Given the description of an element on the screen output the (x, y) to click on. 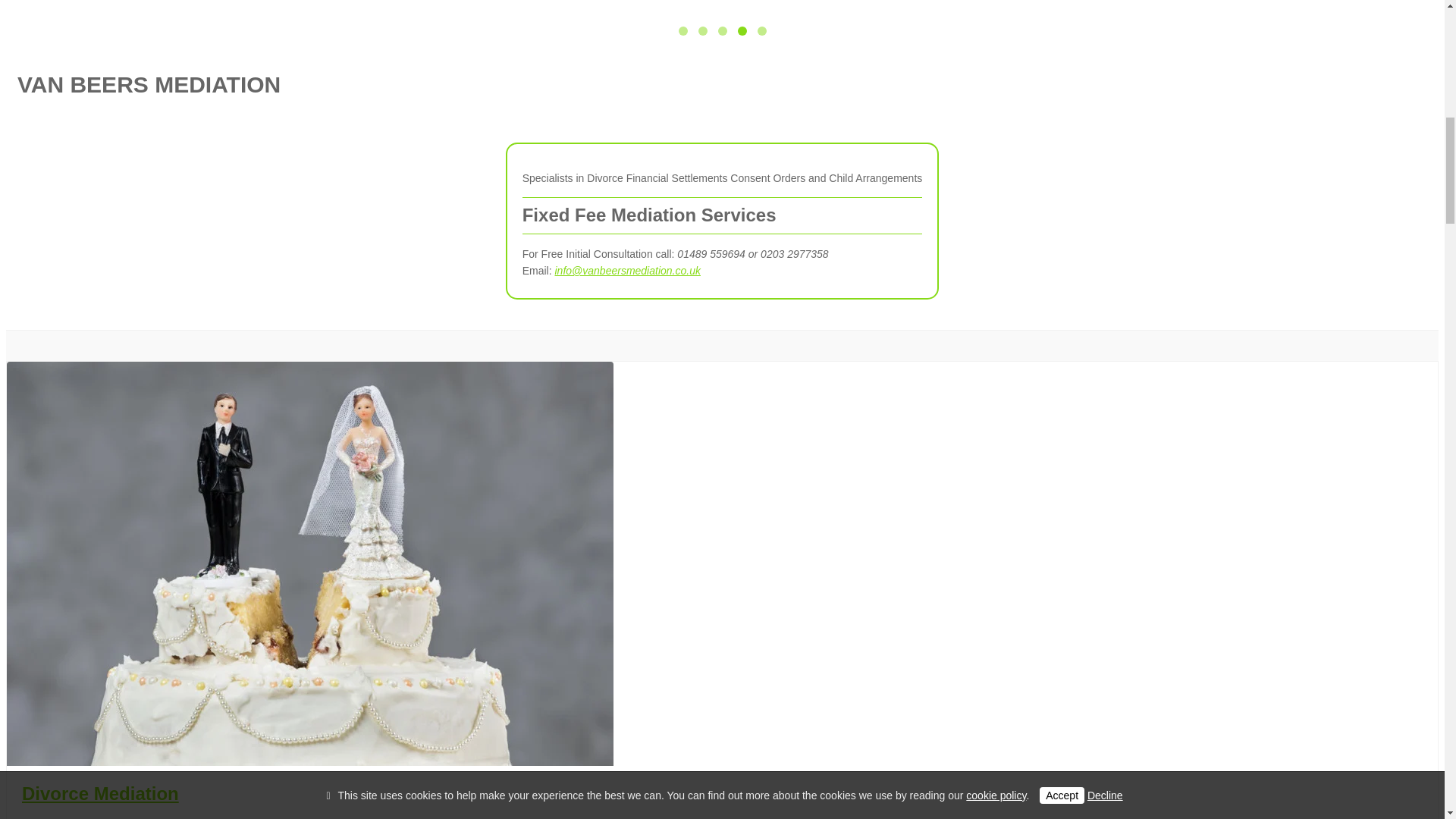
Divorce Mediation (100, 792)
